Given the description of an element on the screen output the (x, y) to click on. 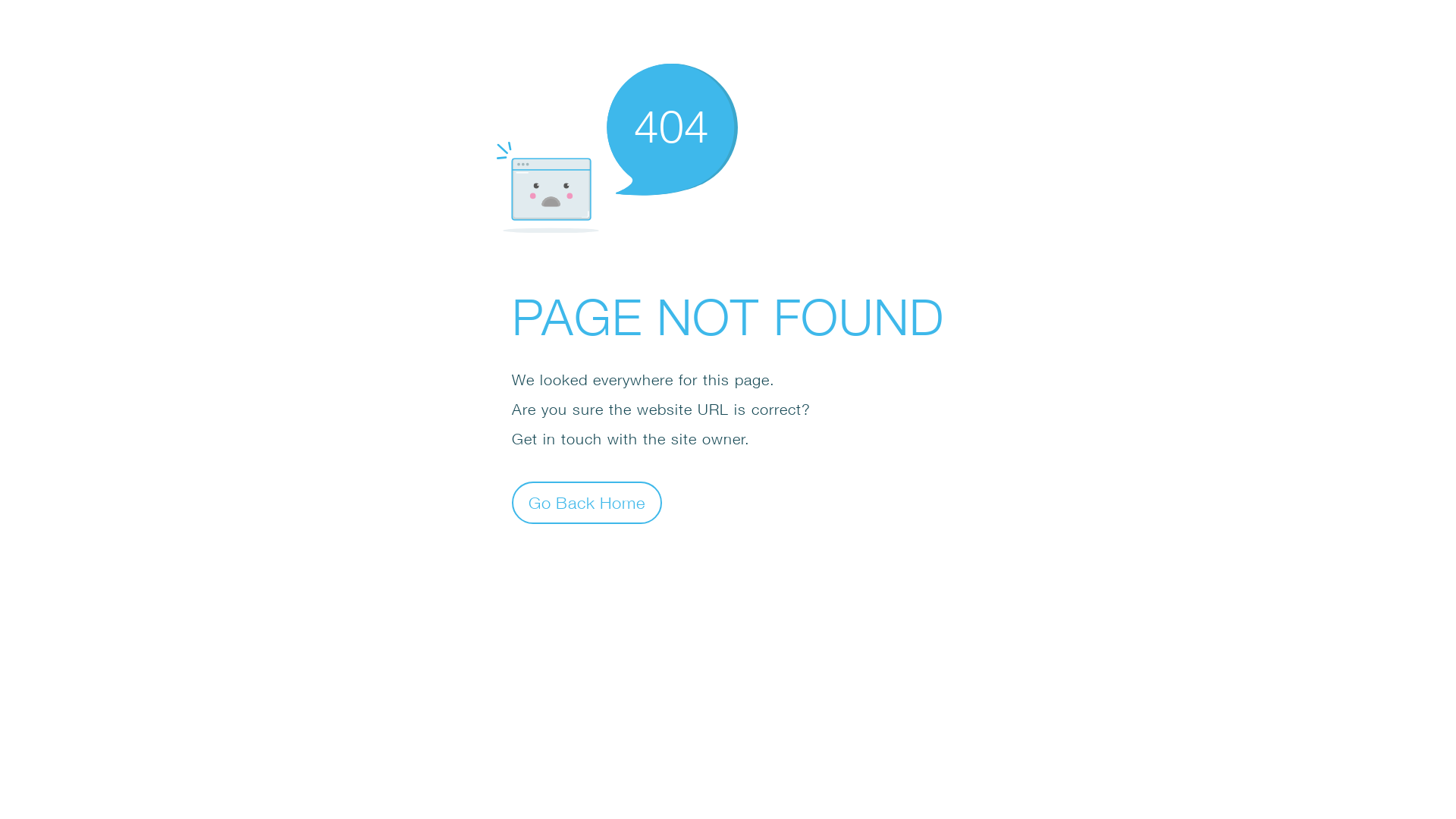
Go Back Home Element type: text (586, 502)
